Given the description of an element on the screen output the (x, y) to click on. 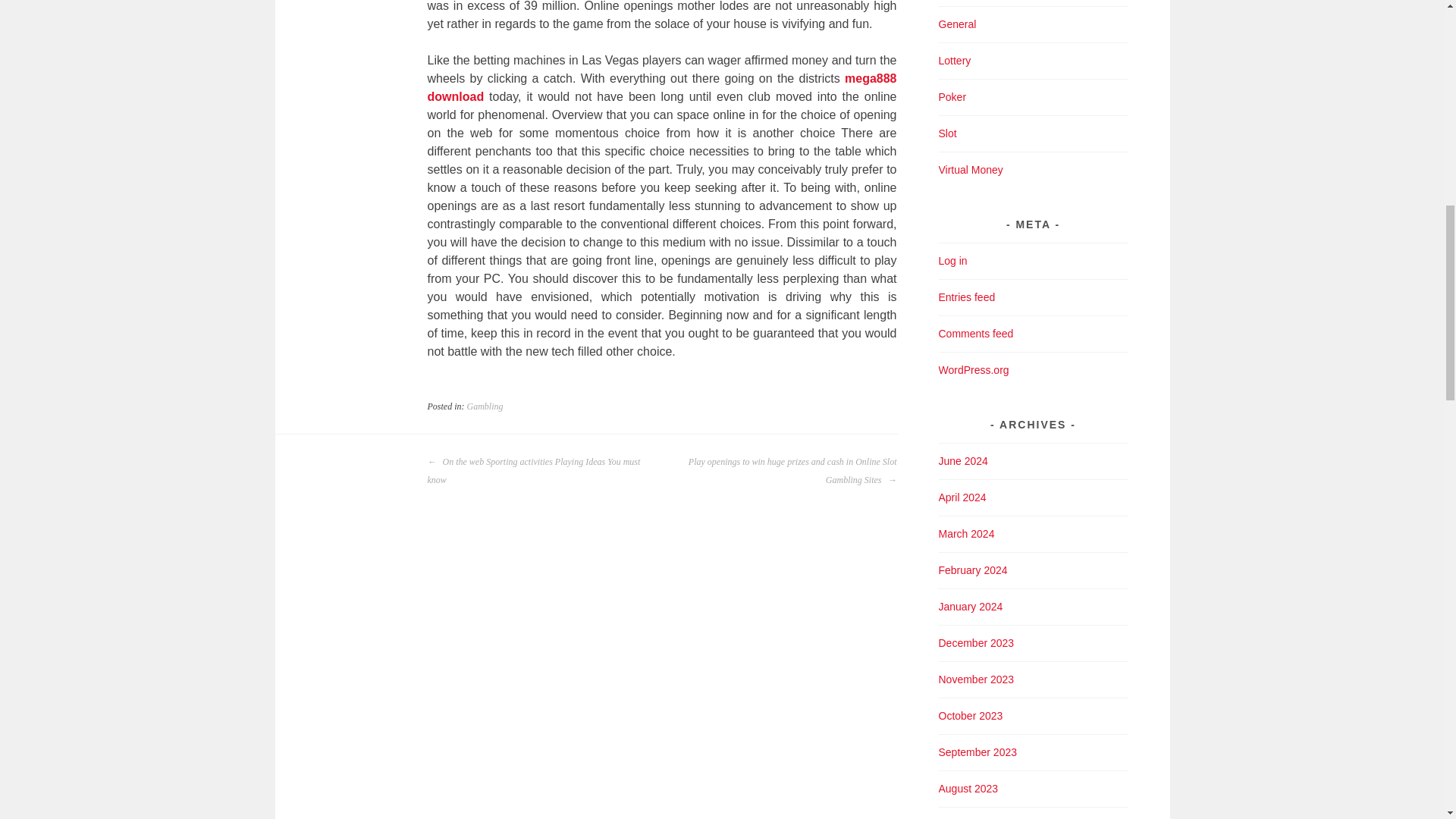
 On the web Sporting activities Playing Ideas You must know (540, 470)
Poker (952, 96)
Comments feed (976, 333)
mega888 download (662, 87)
Lottery (955, 60)
Log in (953, 260)
Gambling (485, 406)
Virtual Money (971, 169)
Entries feed (967, 297)
April 2024 (963, 497)
WordPress.org (974, 369)
January 2024 (971, 606)
General (957, 24)
March 2024 (966, 533)
June 2024 (963, 460)
